Given the description of an element on the screen output the (x, y) to click on. 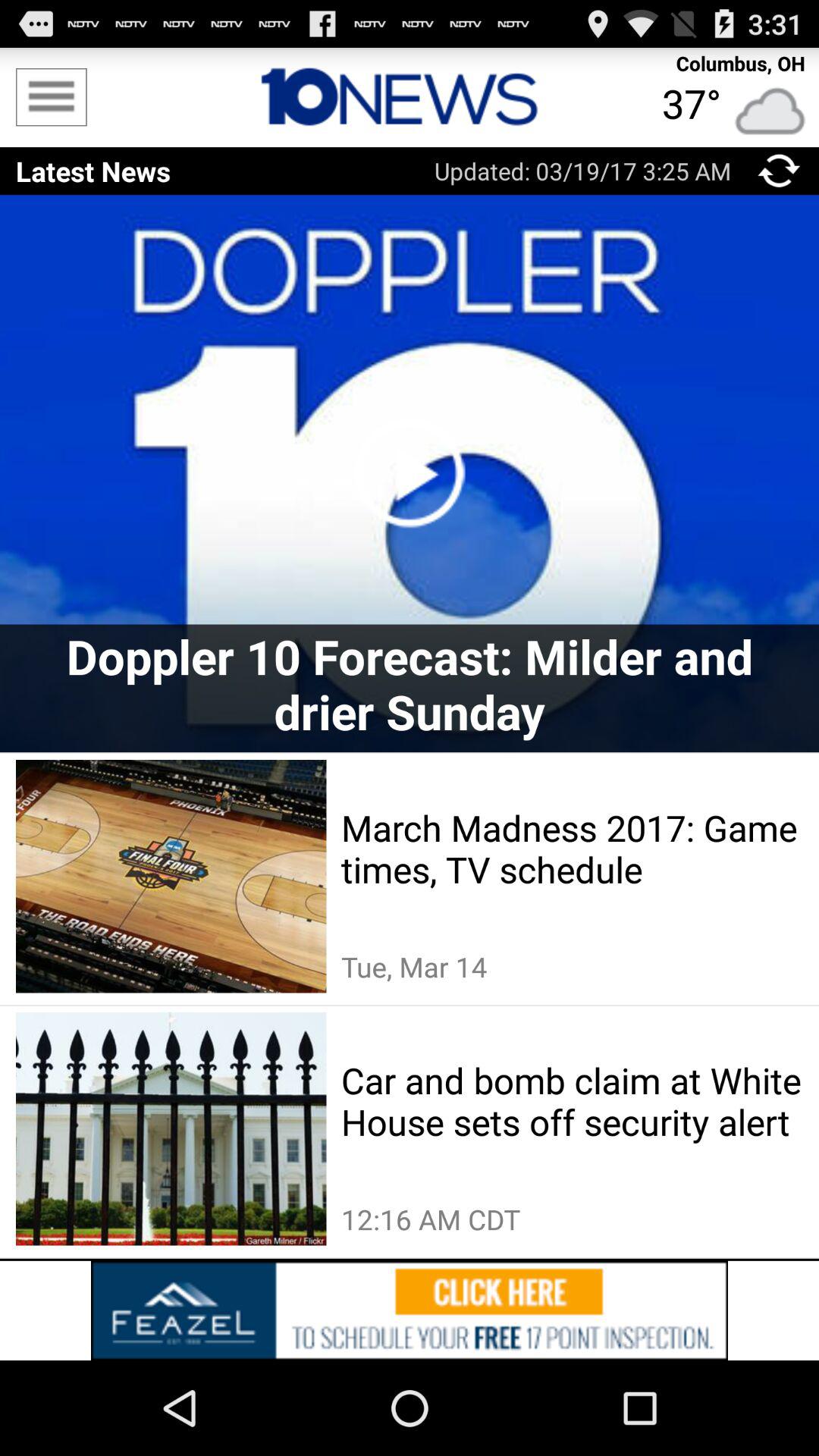
advertisement (409, 97)
